Given the description of an element on the screen output the (x, y) to click on. 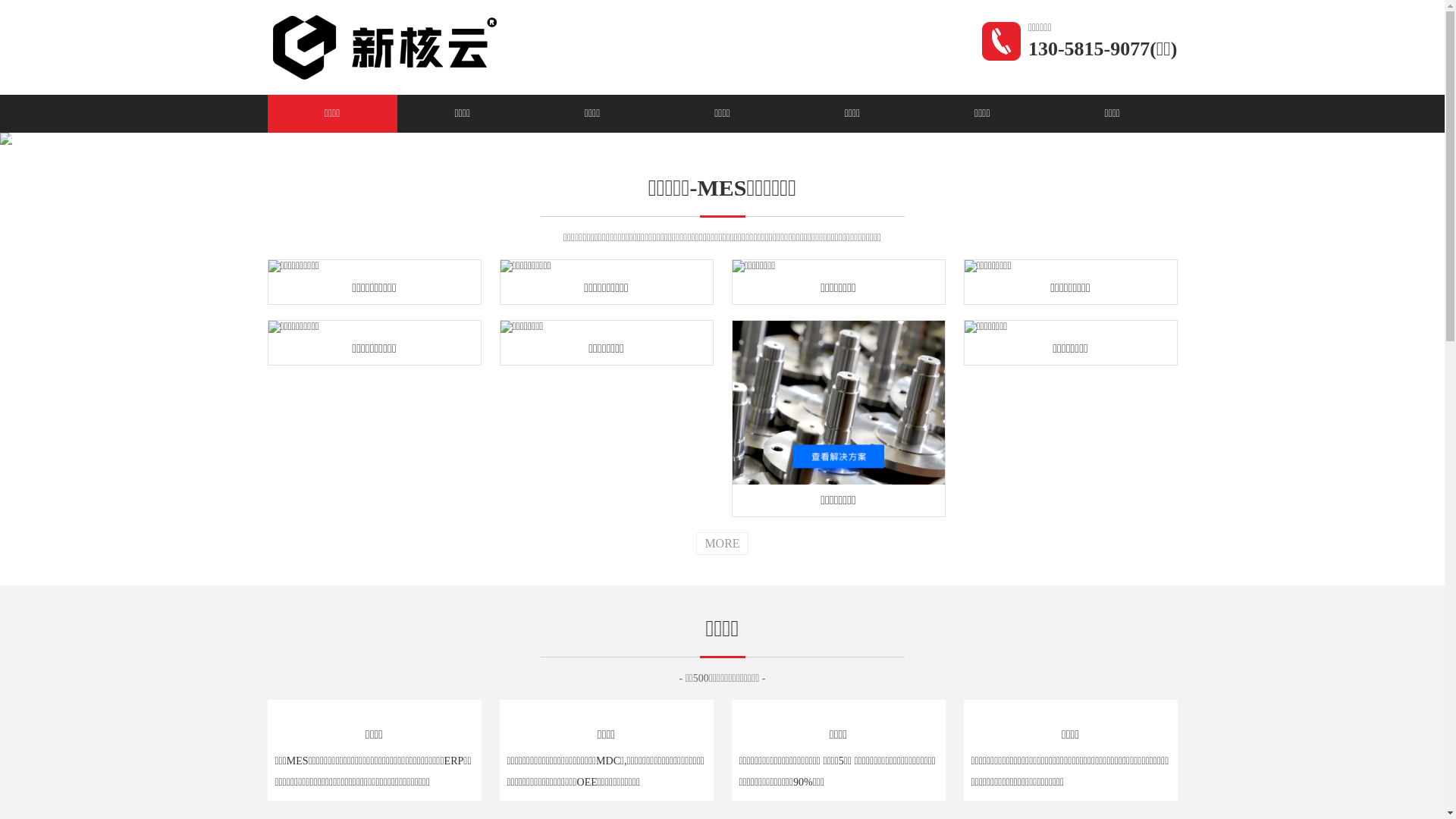
MORE Element type: text (721, 543)
